Given the description of an element on the screen output the (x, y) to click on. 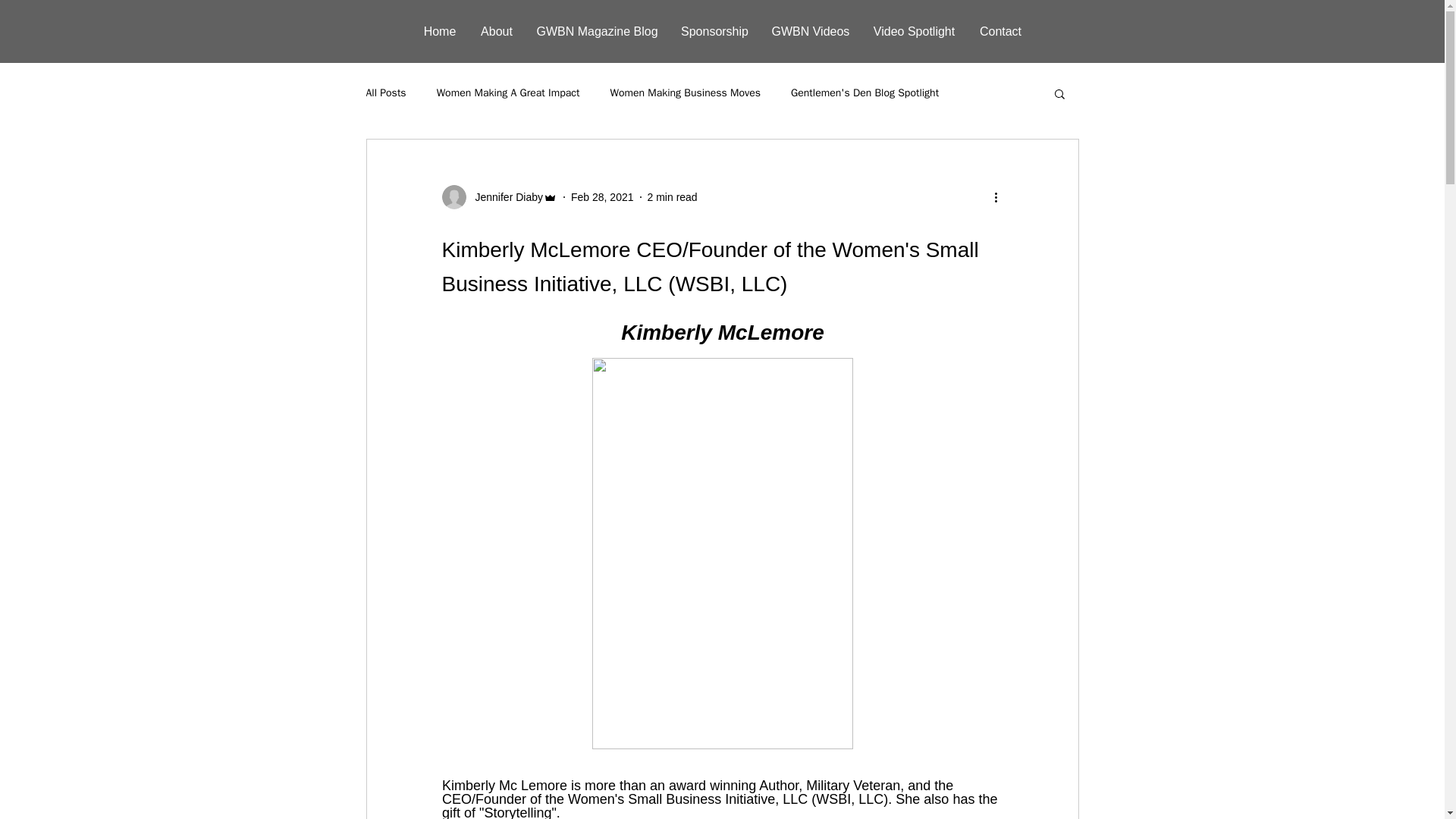
Women Making A Great Impact (507, 92)
About (496, 31)
Home (438, 31)
Jennifer Diaby (499, 197)
Sponsorship (714, 31)
GWBN Magazine Blog (596, 31)
Jennifer Diaby (504, 197)
Feb 28, 2021 (601, 196)
Women Making Business Moves (685, 92)
All Posts (385, 92)
GWBN Videos (810, 31)
Gentlemen's Den Blog Spotlight (864, 92)
2 min read (672, 196)
Video Spotlight (914, 31)
Contact (1000, 31)
